Given the description of an element on the screen output the (x, y) to click on. 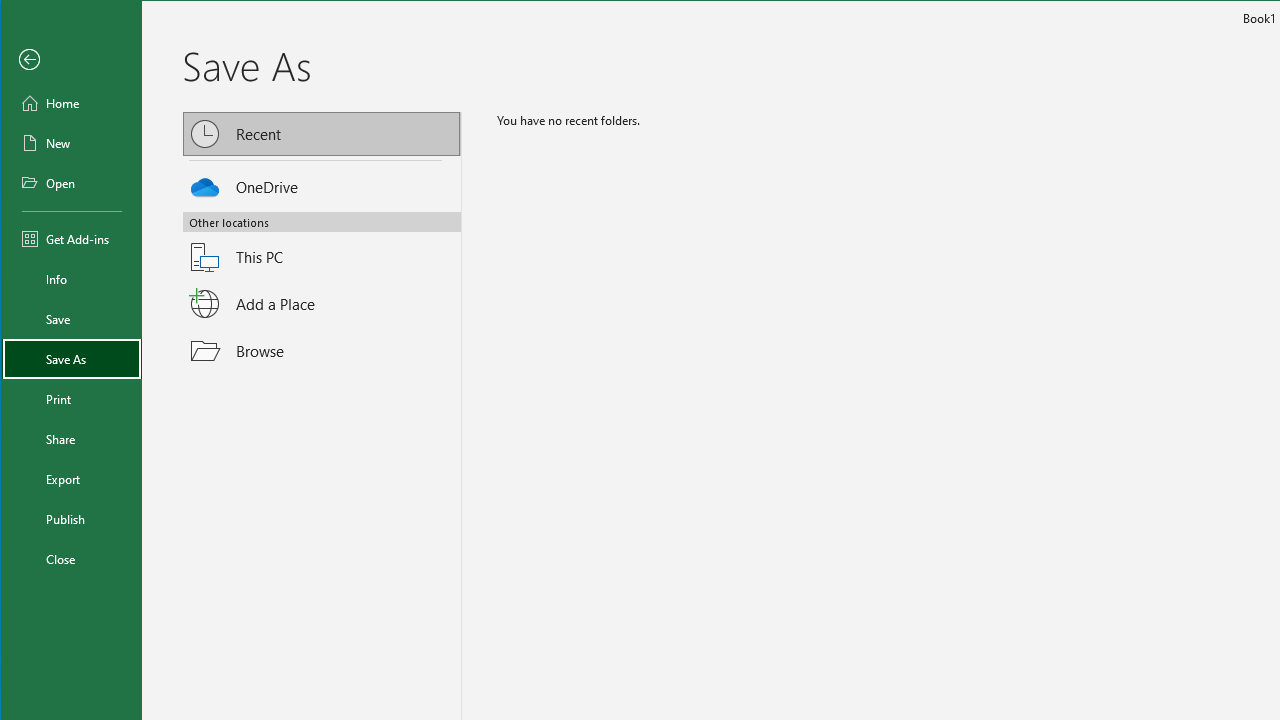
New (72, 142)
Info (72, 278)
Export (72, 478)
Print (72, 398)
OneDrive (322, 183)
This PC (322, 245)
Save As (72, 358)
Publish (72, 518)
Home (72, 102)
Share (72, 439)
Save (72, 318)
Add a Place (322, 304)
Back (72, 60)
